Given the description of an element on the screen output the (x, y) to click on. 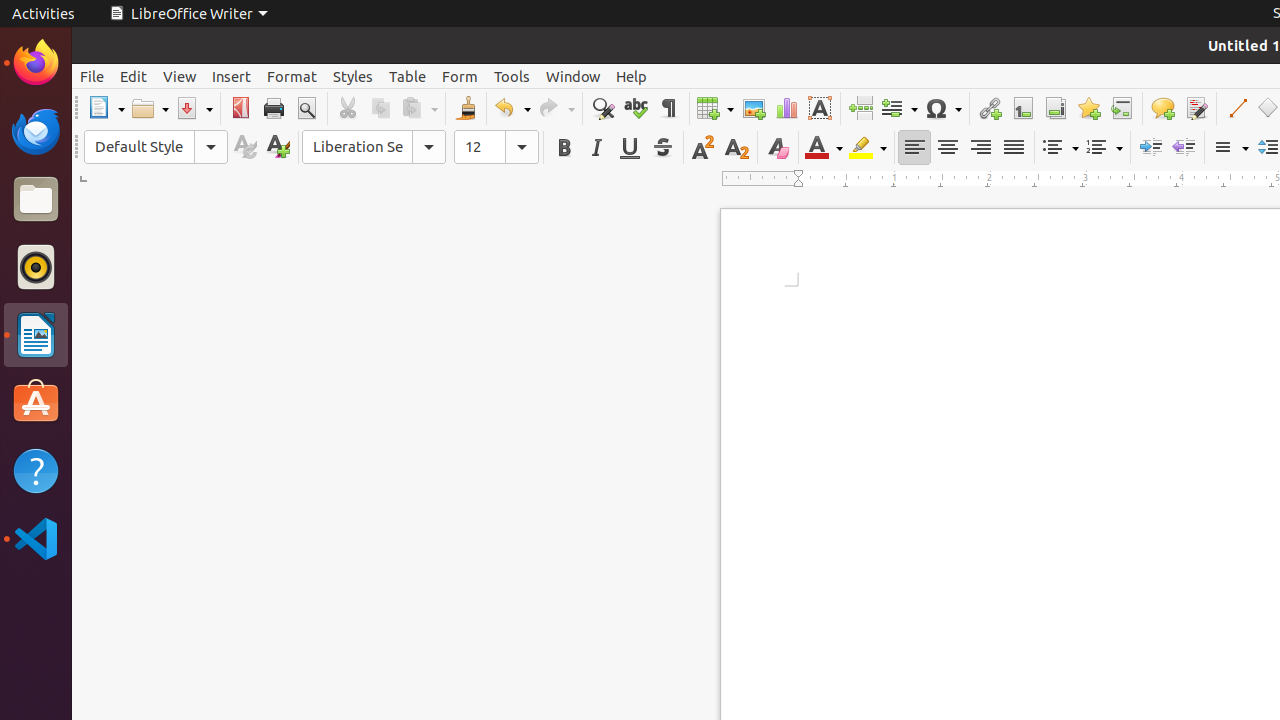
Footnote Element type: push-button (1022, 108)
Thunderbird Mail Element type: push-button (36, 131)
Superscript Element type: toggle-button (703, 147)
Bold Element type: toggle-button (563, 147)
Subscript Element type: toggle-button (736, 147)
